Given the description of an element on the screen output the (x, y) to click on. 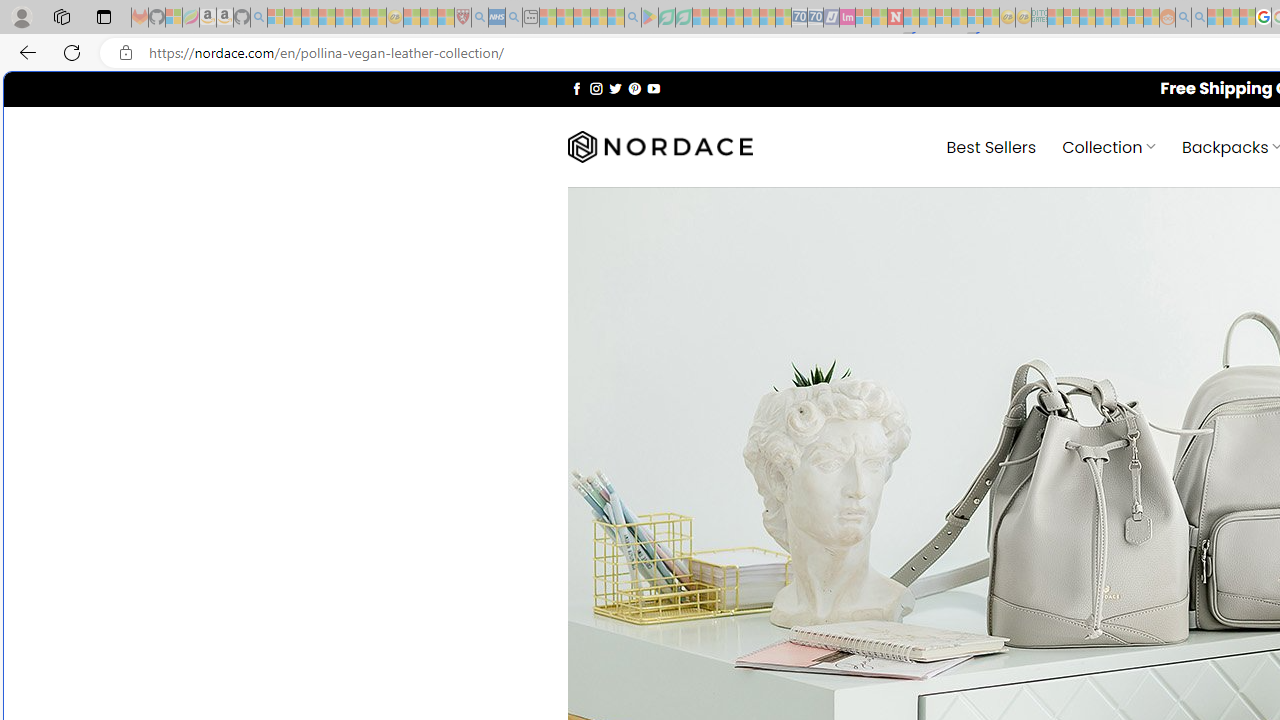
google - Search - Sleeping (632, 17)
Follow on Instagram (596, 88)
New Report Confirms 2023 Was Record Hot | Watch - Sleeping (343, 17)
utah sues federal government - Search - Sleeping (513, 17)
Expert Portfolios - Sleeping (1103, 17)
